Given the description of an element on the screen output the (x, y) to click on. 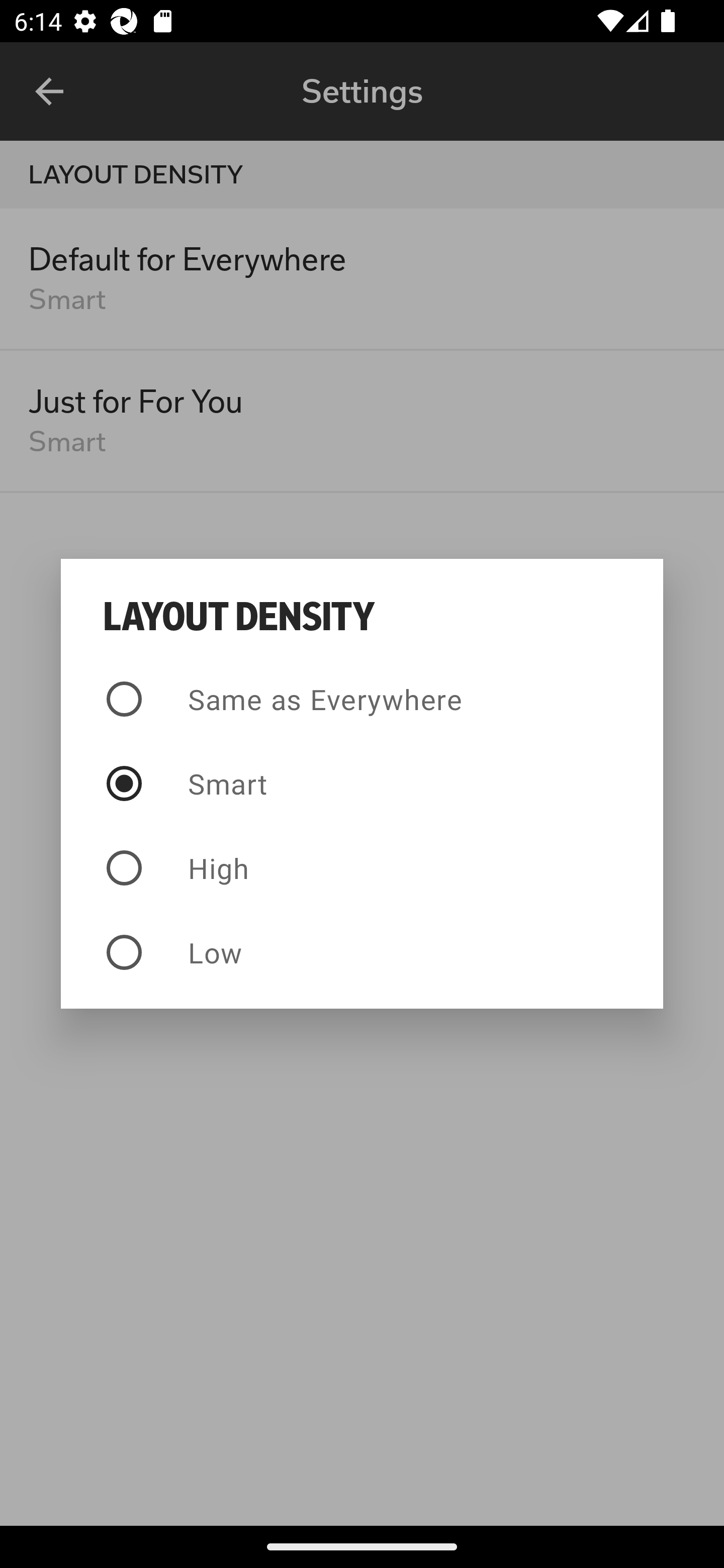
Same as Everywhere (361, 698)
Smart (361, 783)
High (361, 867)
Low (361, 951)
